Given the description of an element on the screen output the (x, y) to click on. 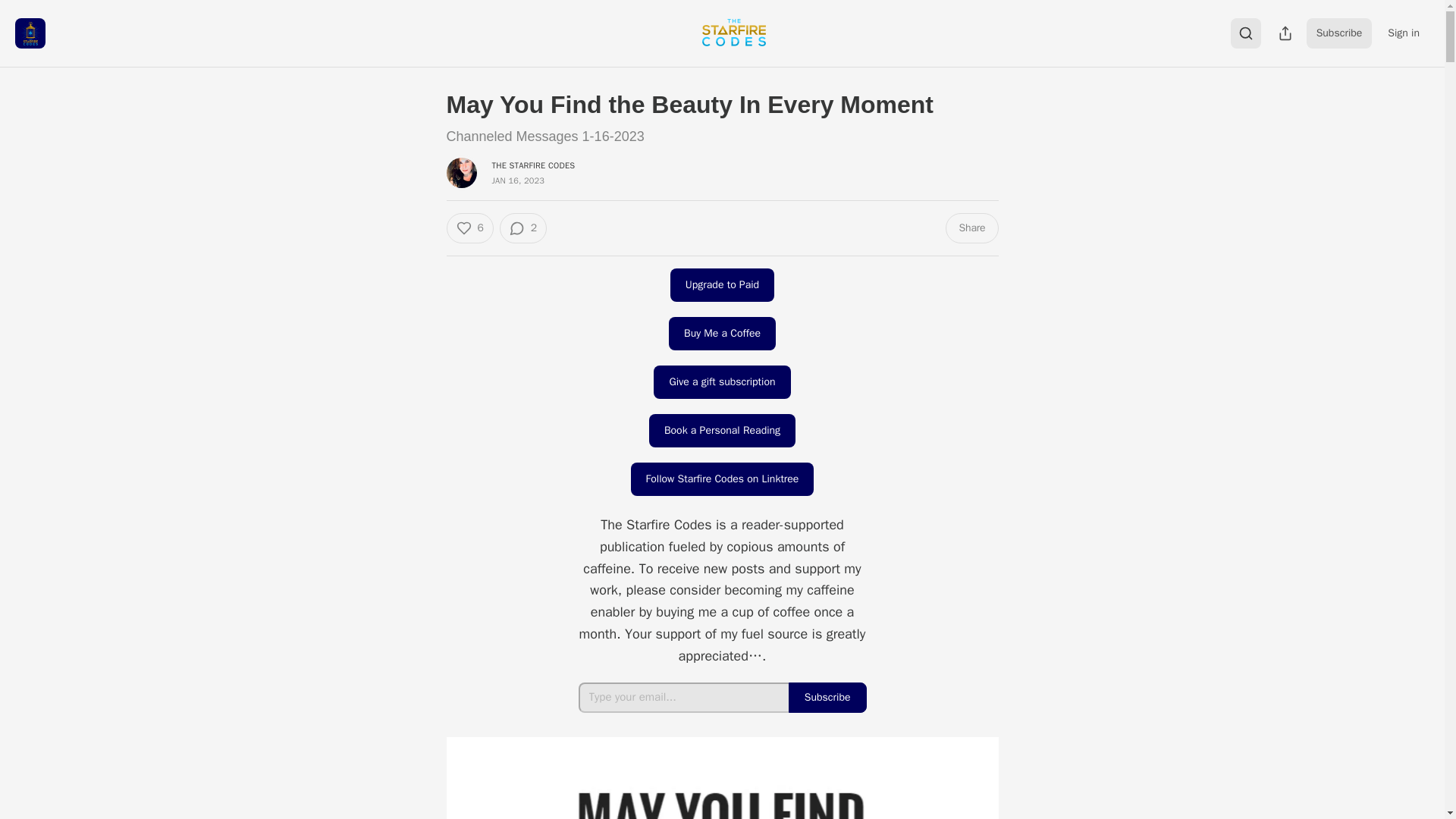
Sign in (1403, 33)
Book a Personal Reading (721, 430)
Subscribe (827, 697)
6 (469, 227)
Follow Starfire Codes on Linktree (721, 479)
2 (523, 227)
Upgrade to Paid (721, 285)
THE STARFIRE CODES (533, 164)
Buy Me a Coffee (722, 333)
Share (970, 227)
Give a gift subscription (721, 381)
Subscribe (1339, 33)
